Given the description of an element on the screen output the (x, y) to click on. 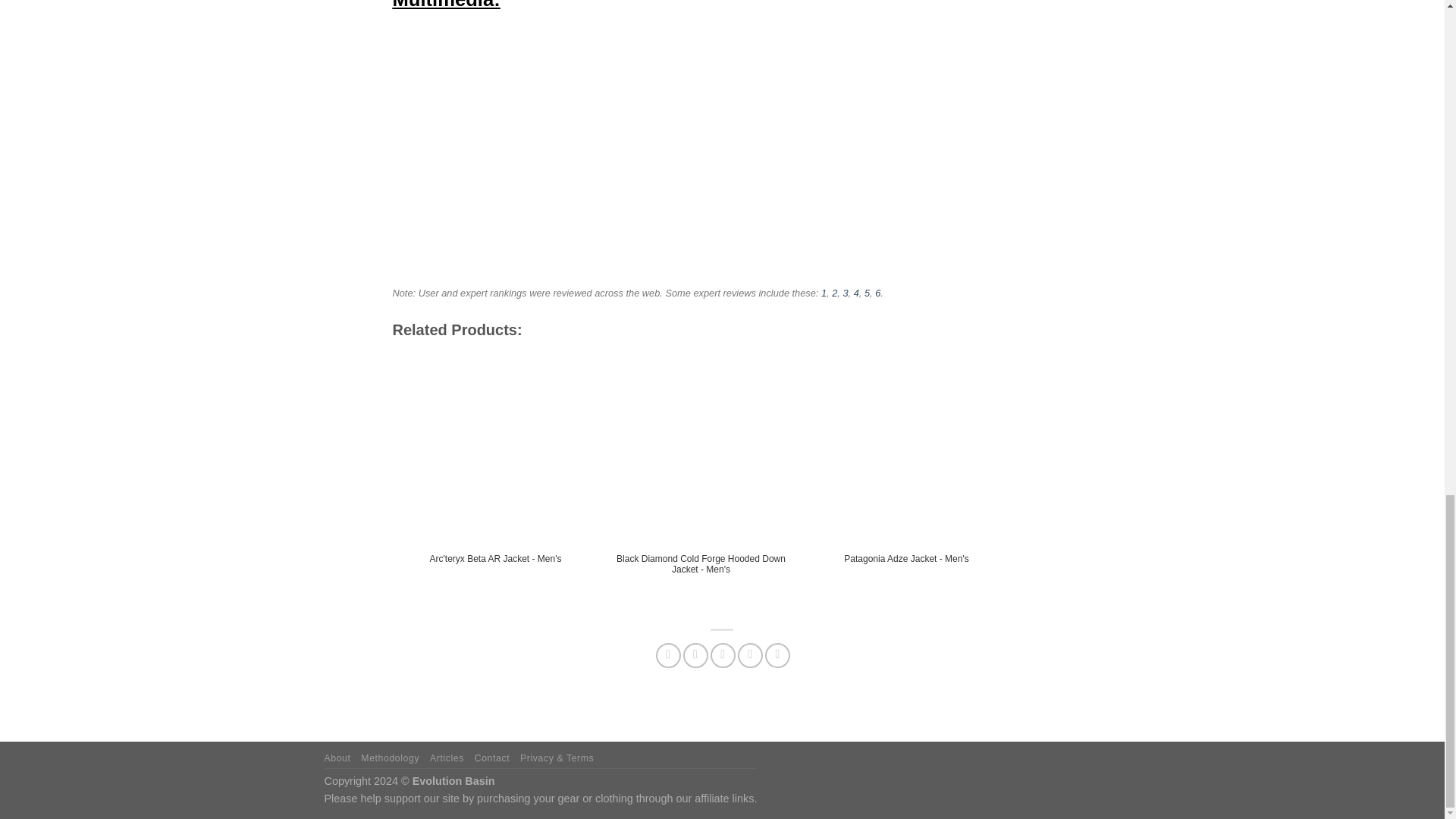
Share on Facebook (668, 655)
Share on Twitter (694, 655)
Email to a Friend (722, 655)
